Given the description of an element on the screen output the (x, y) to click on. 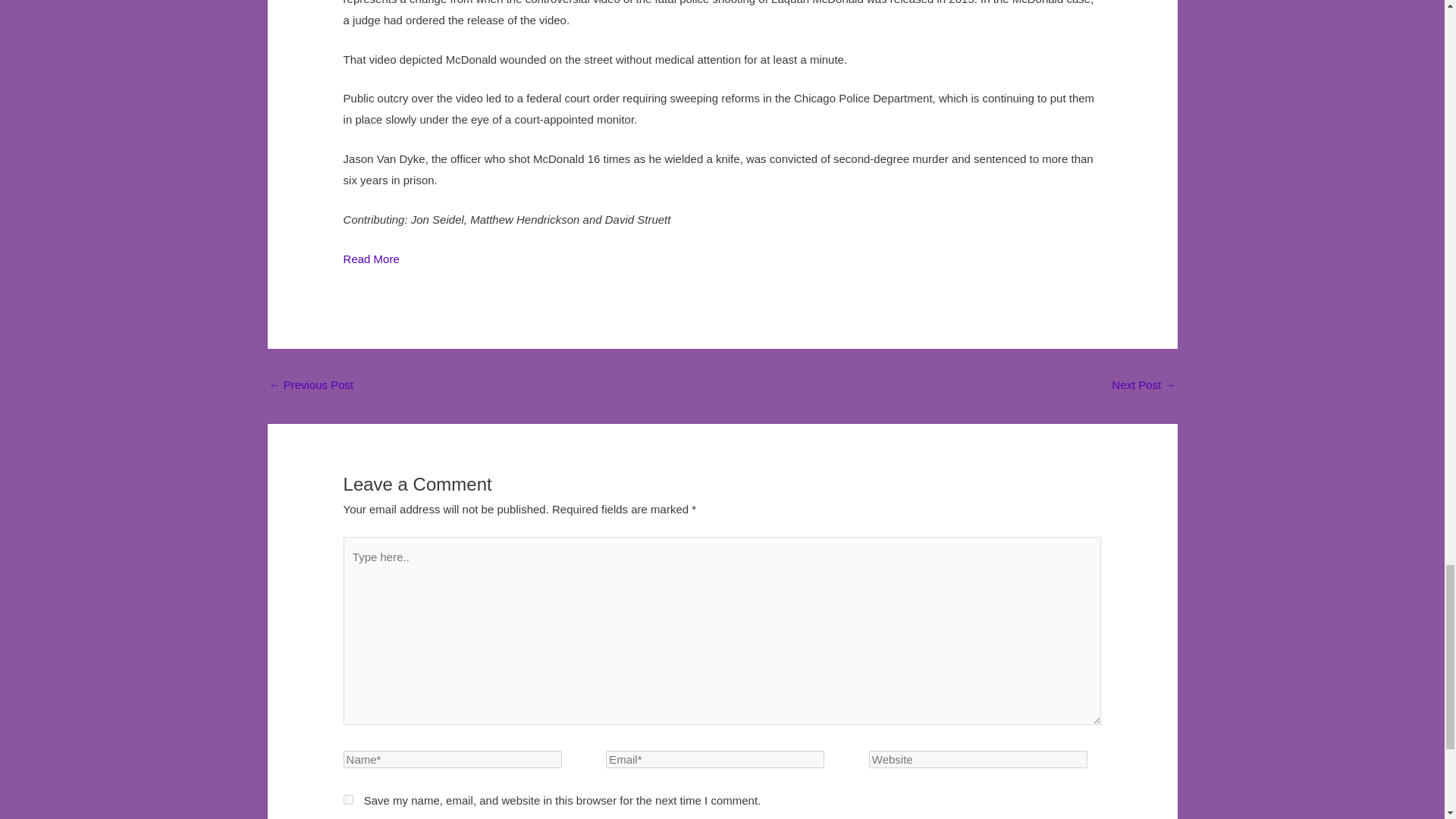
yes (348, 799)
